Given the description of an element on the screen output the (x, y) to click on. 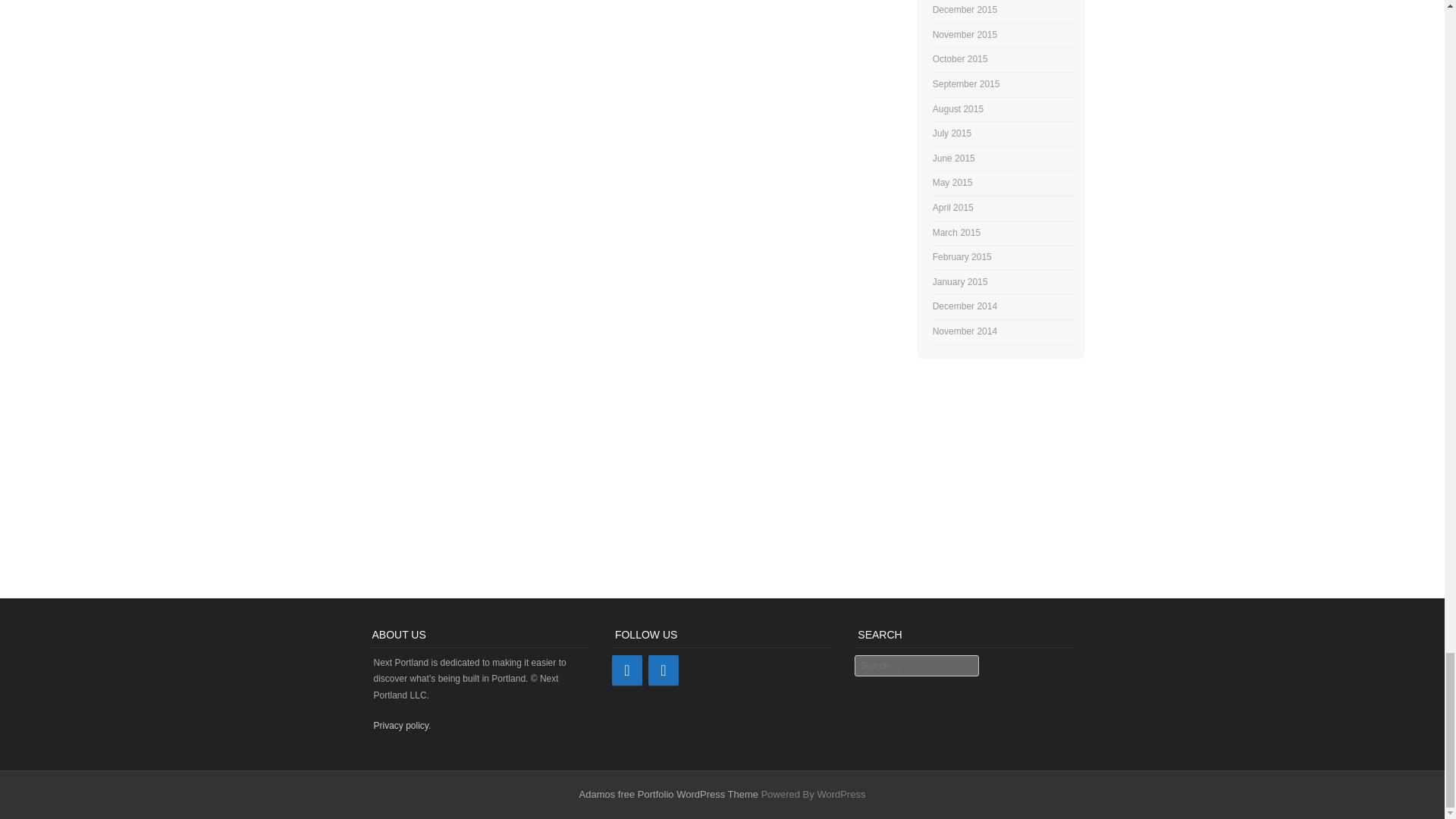
Twitter (626, 670)
Facebook (662, 670)
